Given the description of an element on the screen output the (x, y) to click on. 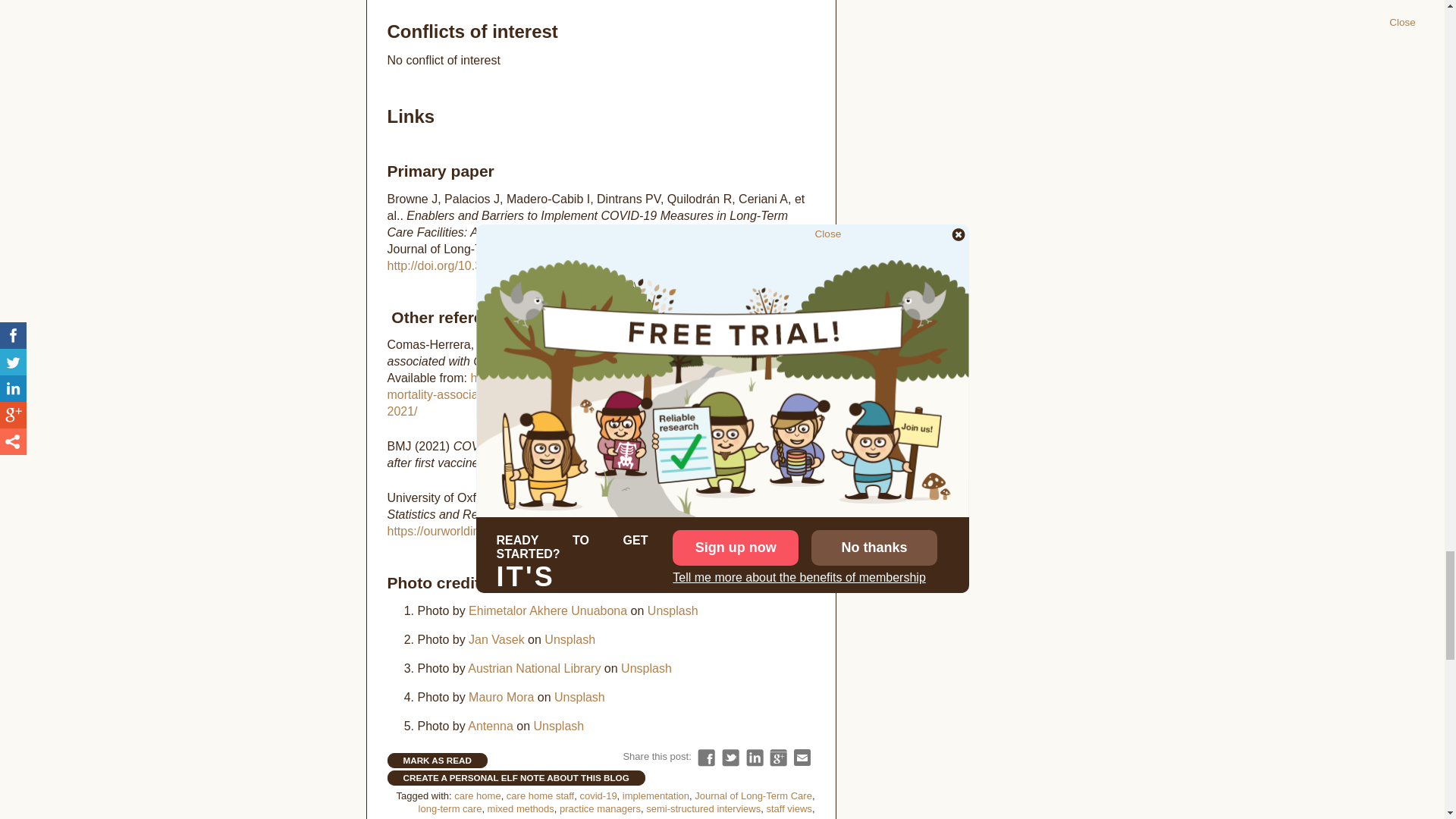
Share on LinkedIn (753, 757)
Tweet this on Twitter (730, 757)
Share via email (801, 757)
Share on Facebook (705, 757)
